Given the description of an element on the screen output the (x, y) to click on. 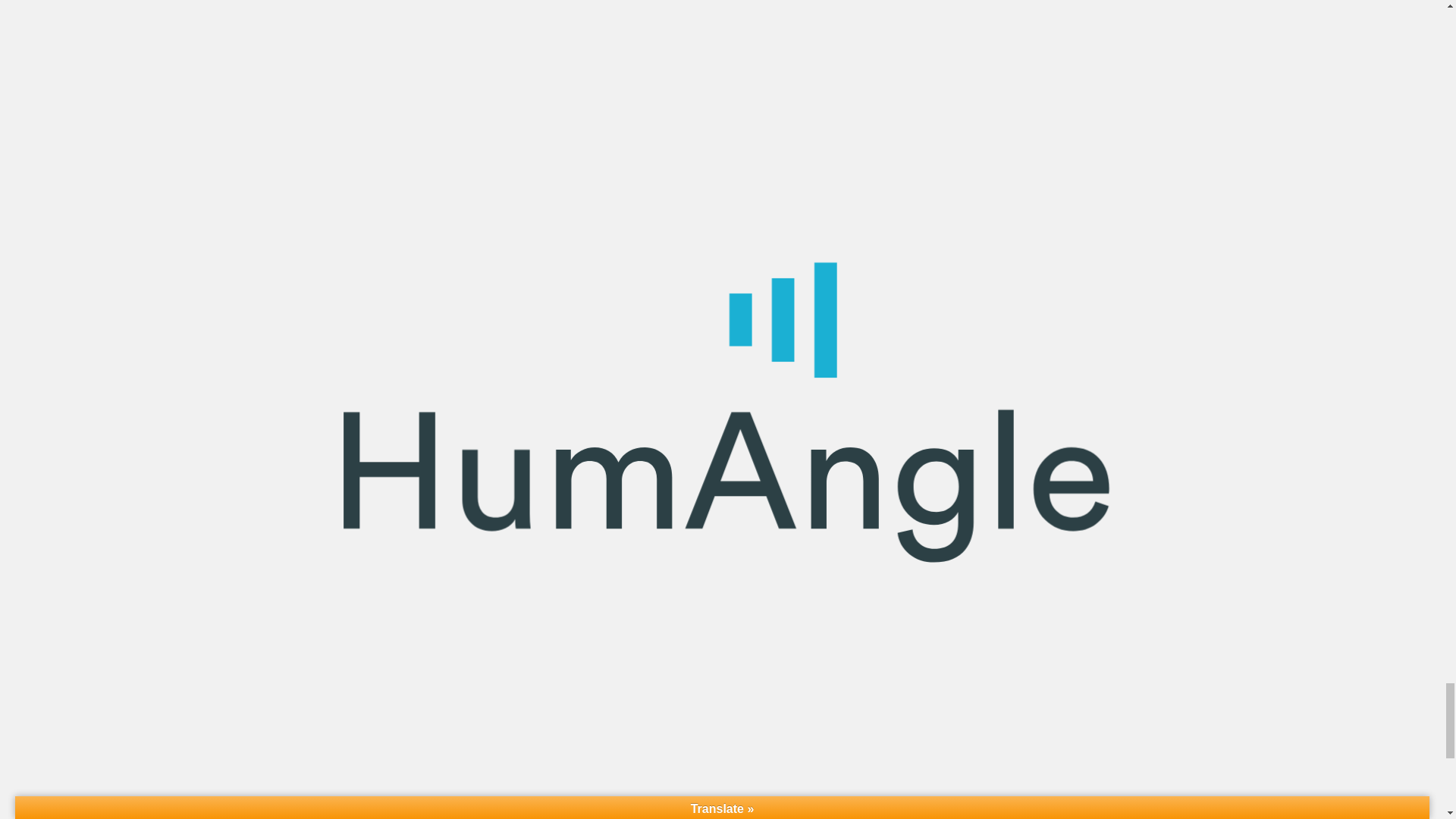
Subscribe (721, 265)
